Given the description of an element on the screen output the (x, y) to click on. 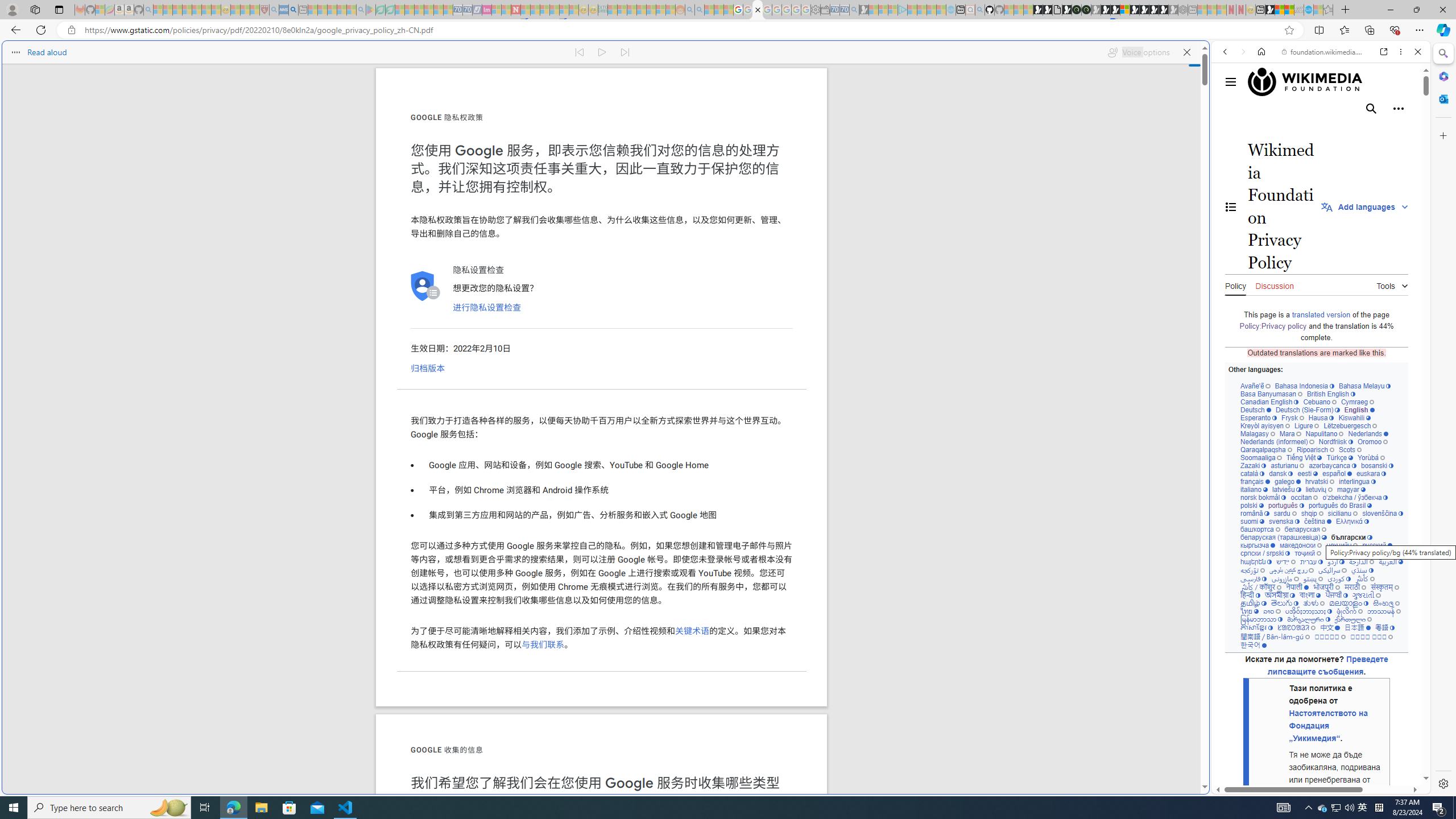
galego (1287, 481)
Future Focus Report 2024 (1085, 9)
foundation.wikimedia.org (1323, 51)
Ligure (1306, 425)
Deutsch (1255, 409)
polski (1251, 505)
